Given the description of an element on the screen output the (x, y) to click on. 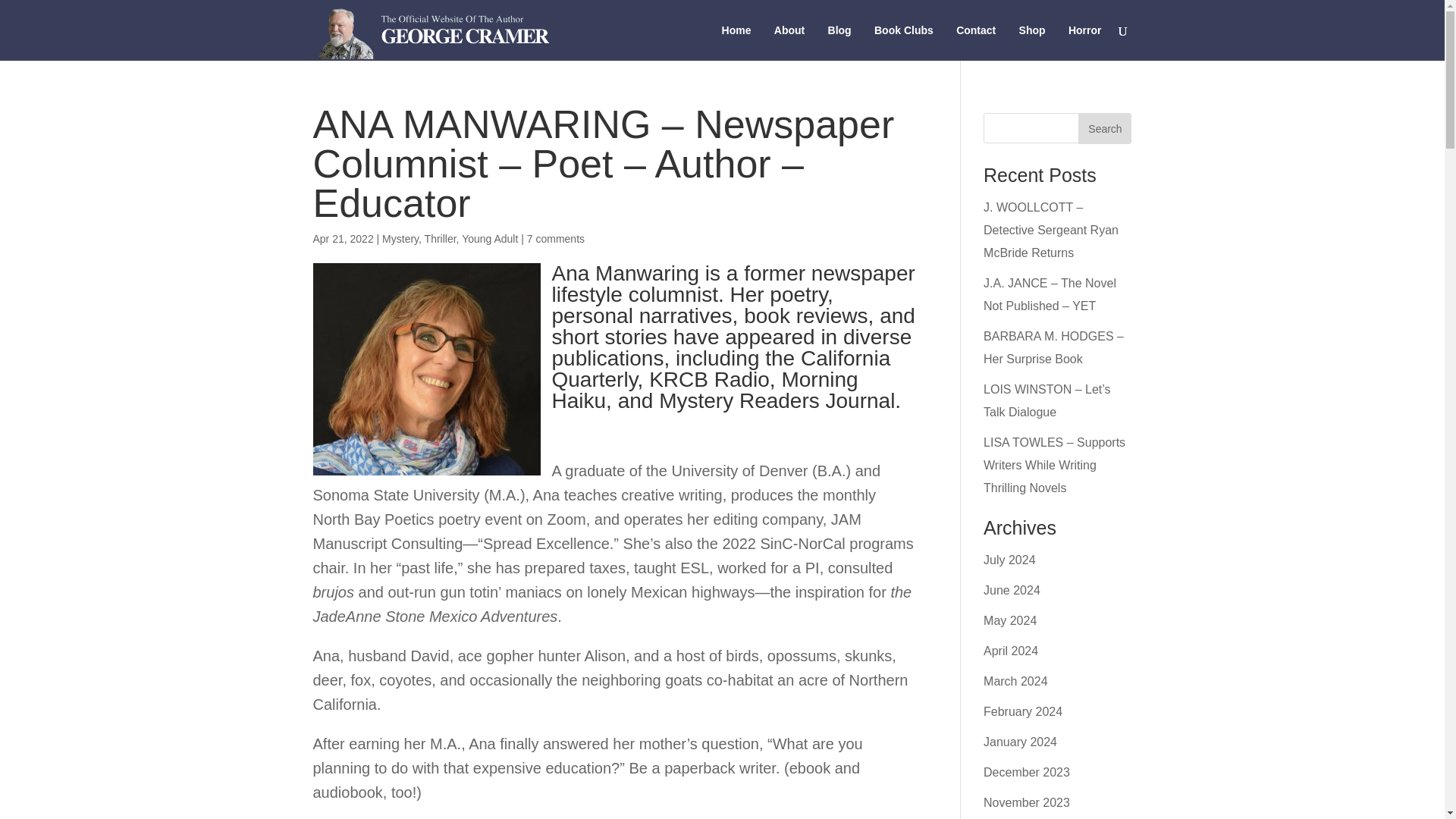
Mystery (400, 238)
Book Clubs (904, 42)
Horror (1085, 42)
Thriller (441, 238)
Contact (975, 42)
Search (1104, 128)
7 comments (556, 238)
Young Adult (489, 238)
